Given the description of an element on the screen output the (x, y) to click on. 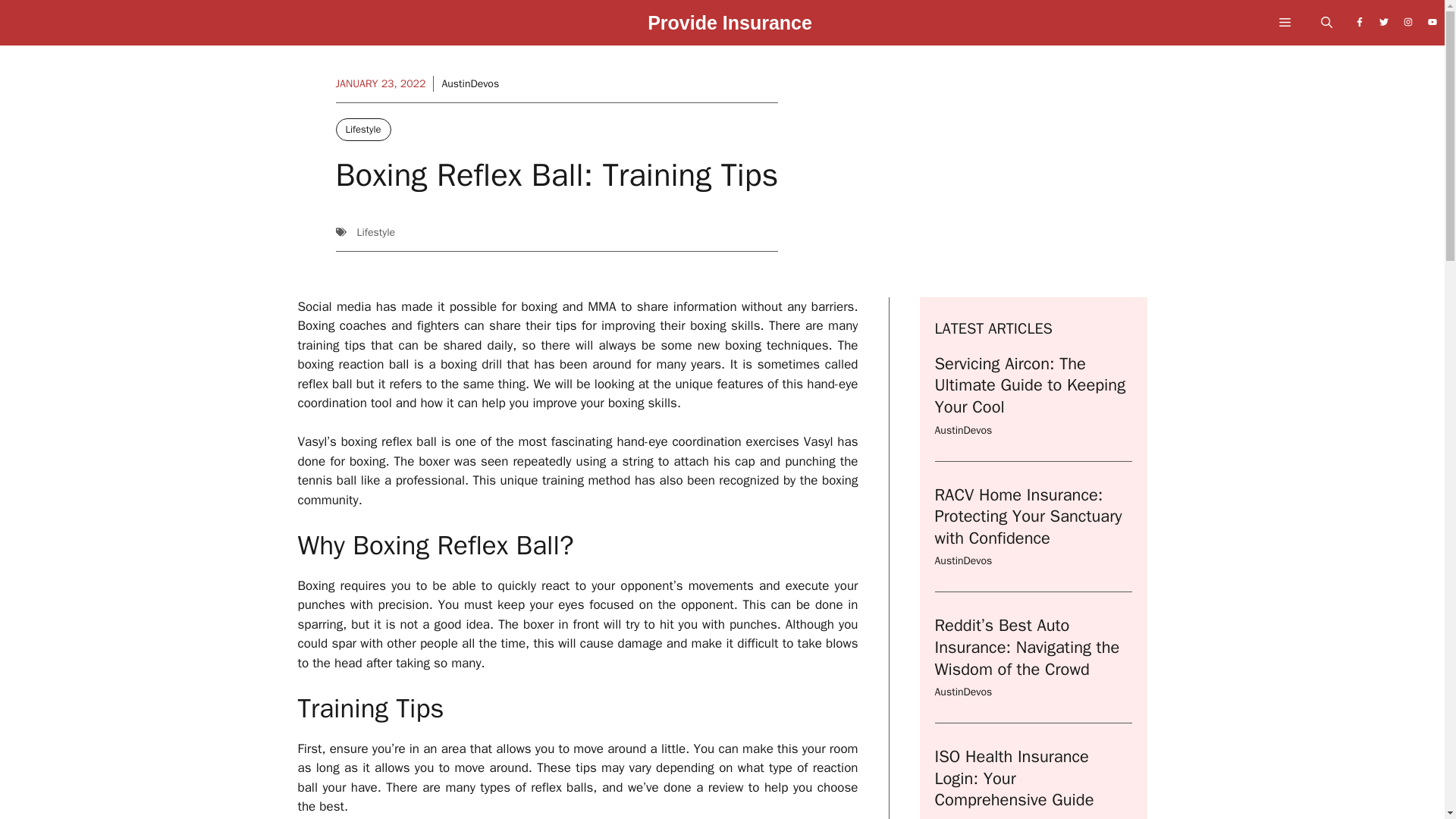
ISO Health Insurance Login: Your Comprehensive Guide (1013, 778)
AustinDevos (470, 83)
Servicing Aircon: The Ultimate Guide to Keeping Your Cool (1029, 384)
AustinDevos (962, 691)
Provide Insurance (729, 26)
AustinDevos (962, 560)
Lifestyle (362, 128)
Lifestyle (375, 232)
AustinDevos (962, 817)
